Given the description of an element on the screen output the (x, y) to click on. 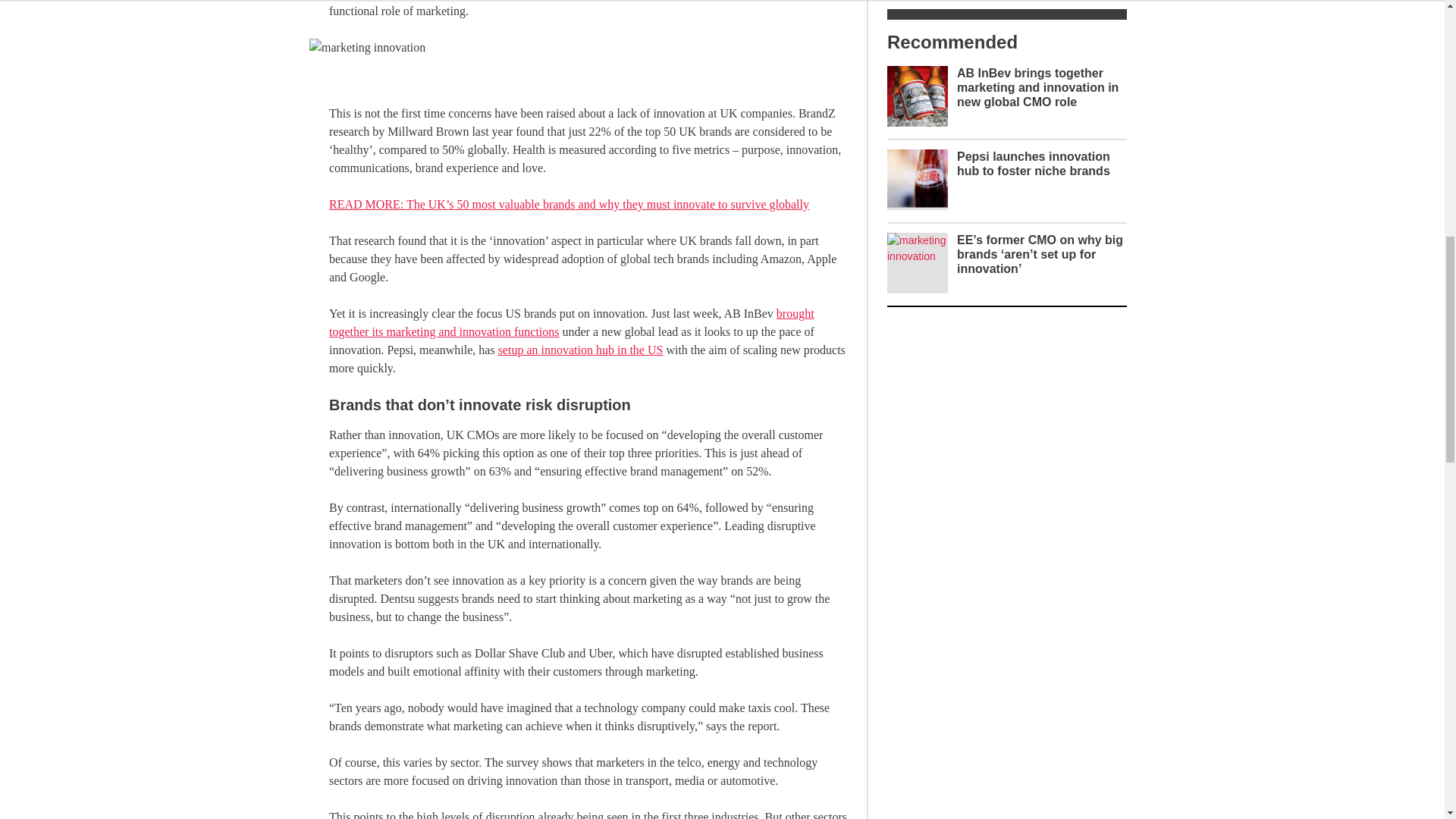
brought together its marketing and innovation functions (571, 322)
setup an innovation hub in the US (580, 349)
